Given the description of an element on the screen output the (x, y) to click on. 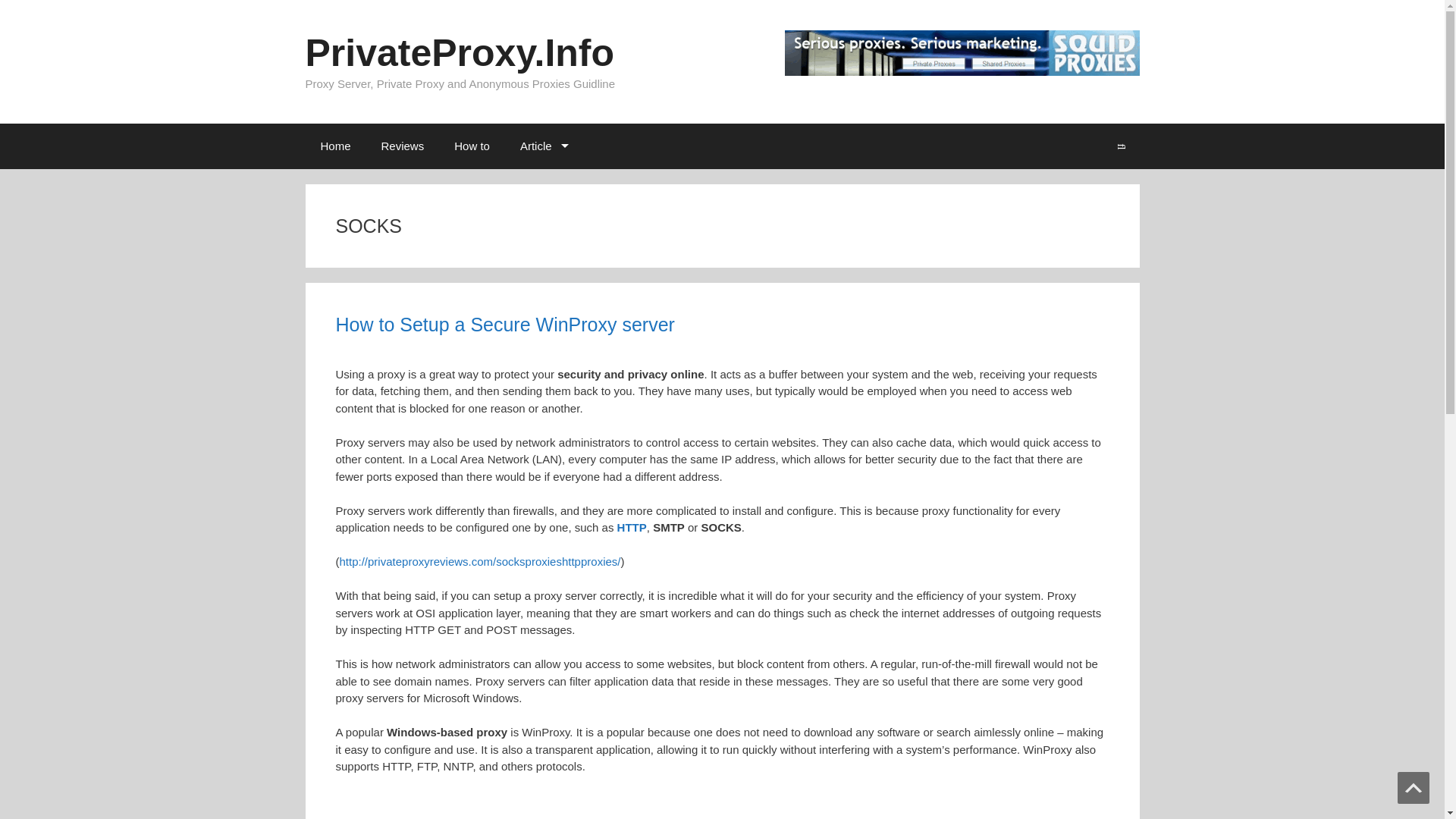
Reviews (402, 145)
How to (472, 145)
Home (334, 145)
HTTP (631, 526)
PrivateProxy.Info (459, 52)
How to Setup a Secure WinProxy server (504, 323)
Article (542, 145)
PrivateProxy.Info (459, 52)
